Given the description of an element on the screen output the (x, y) to click on. 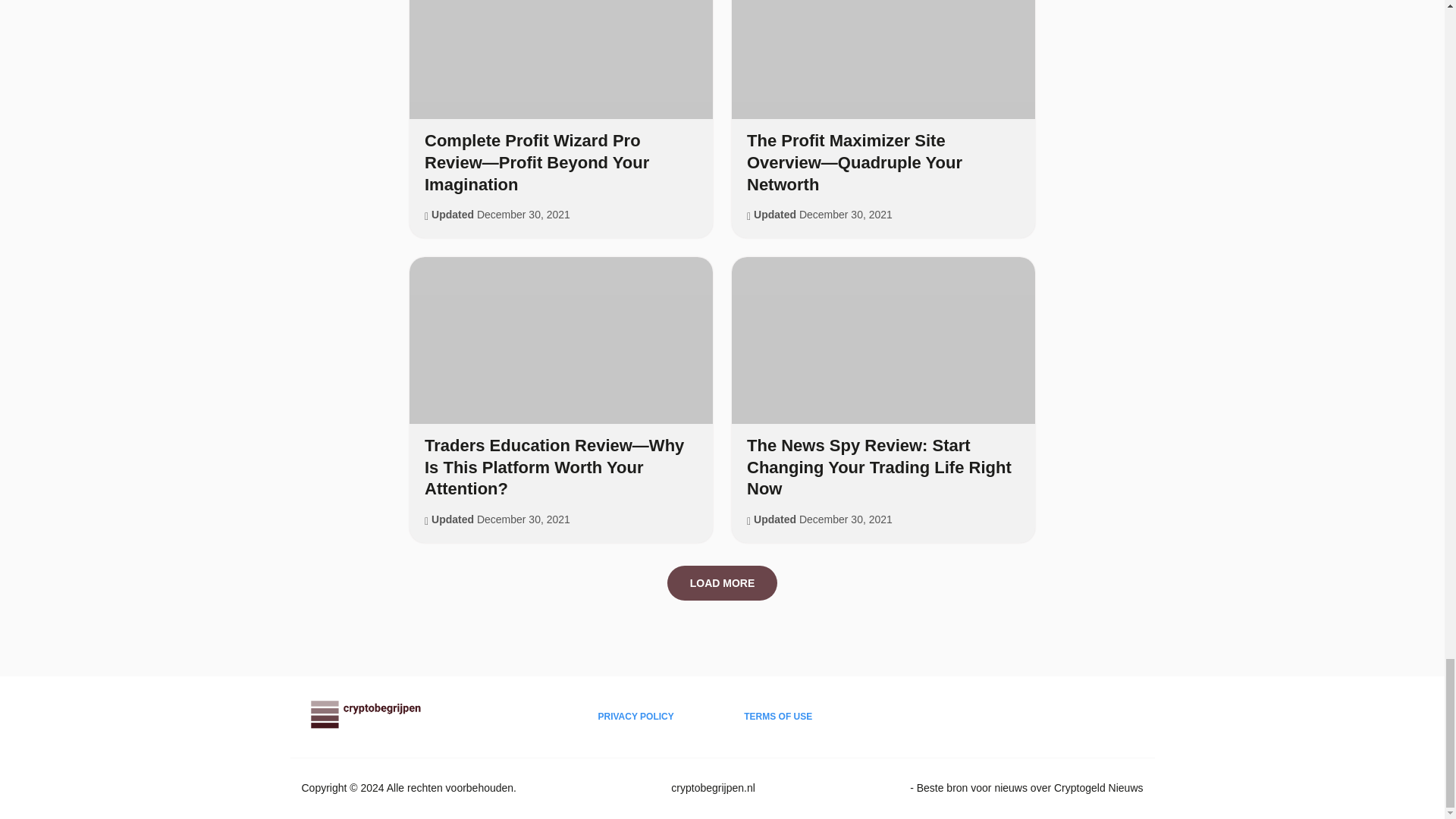
Cryptobegrijpen (365, 725)
